Given the description of an element on the screen output the (x, y) to click on. 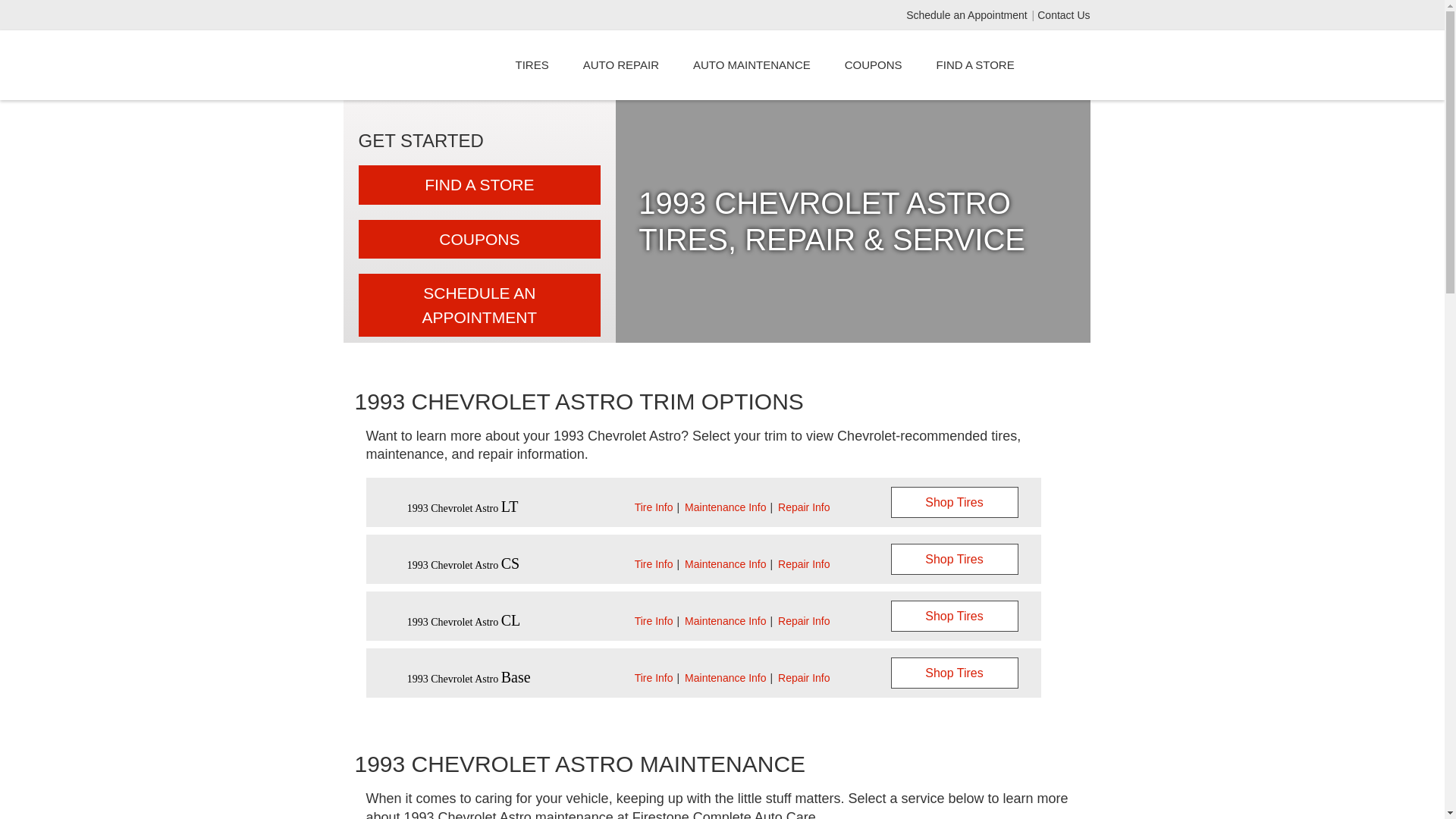
Repair Info (803, 677)
Maintenance Info (724, 506)
TIRES (531, 65)
COUPONS (873, 65)
COUPONS (478, 239)
Shop Tires (953, 615)
Repair Info (803, 620)
SCHEDULE AN APPOINTMENT (478, 304)
FIND A STORE (478, 184)
1993 Chevrolet Astro CS (463, 564)
